Given the description of an element on the screen output the (x, y) to click on. 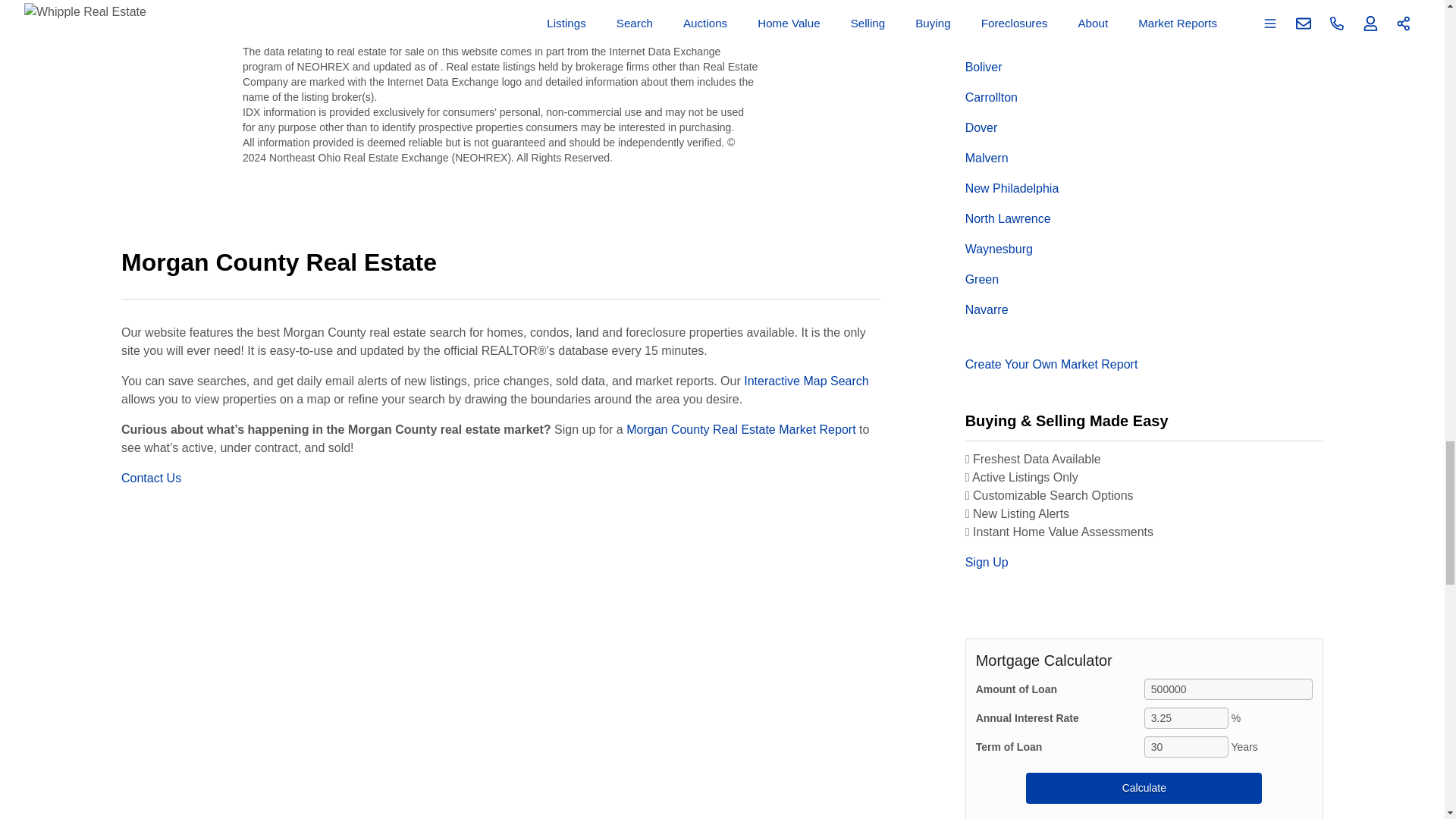
30 (1186, 746)
3.25 (1186, 717)
Morgan County Real Estate Market Report (741, 429)
500000 (1228, 689)
